Given the description of an element on the screen output the (x, y) to click on. 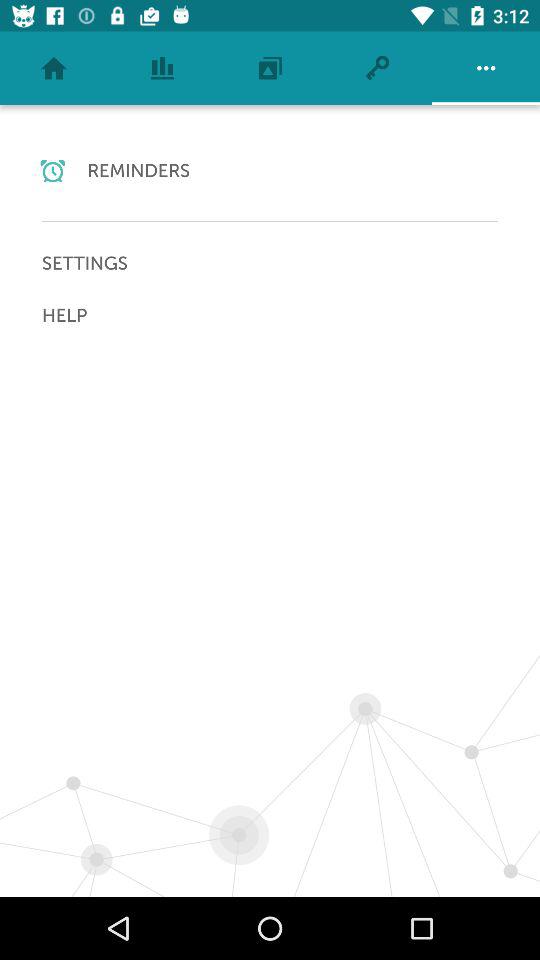
click help item (270, 315)
